Given the description of an element on the screen output the (x, y) to click on. 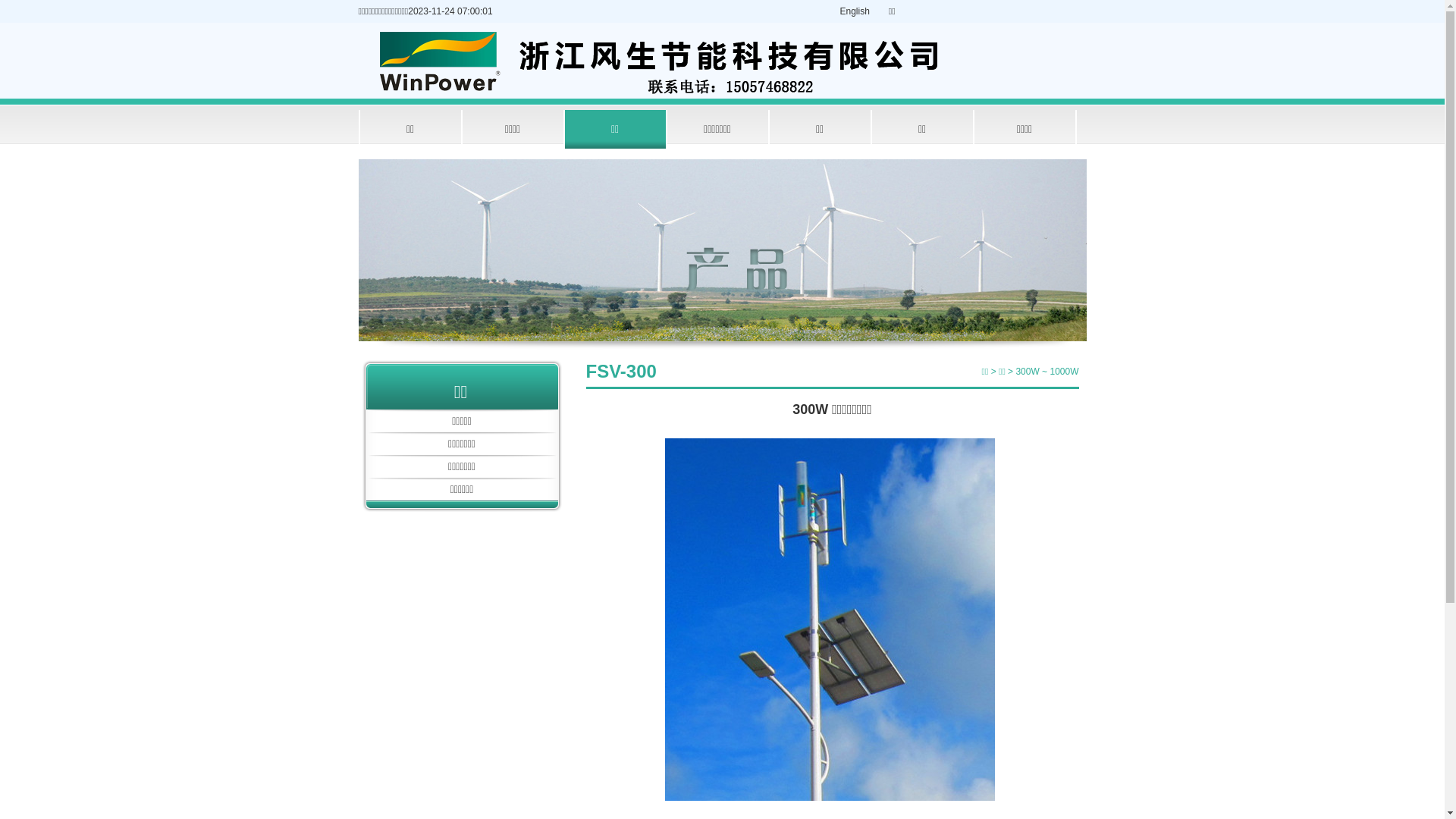
English Element type: text (854, 11)
